Given the description of an element on the screen output the (x, y) to click on. 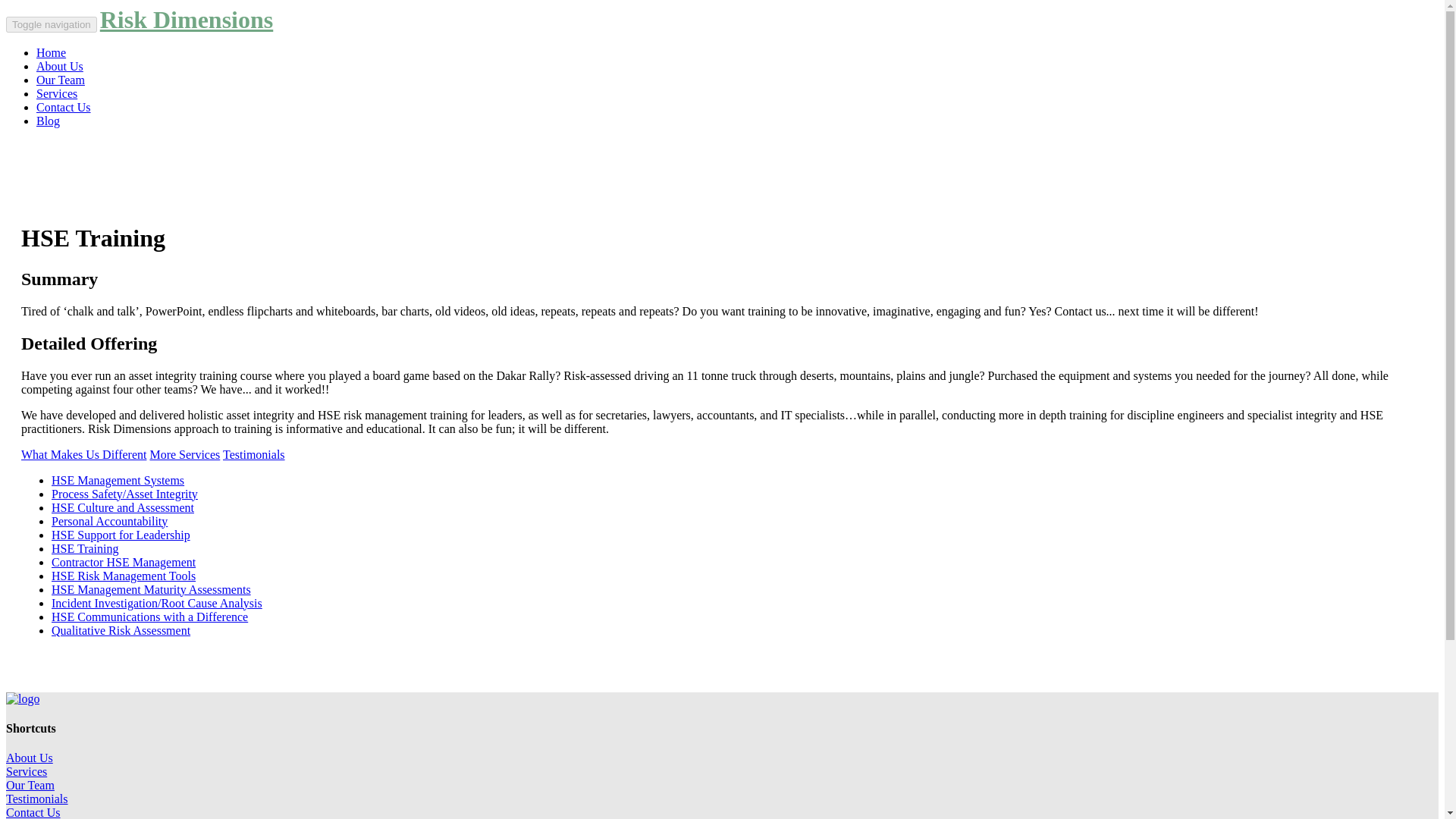
Services (56, 92)
What Makes Us Different (84, 454)
More Services (184, 454)
HSE Culture and Assessment (121, 507)
Blog (47, 120)
Risk Dimensions (186, 16)
What Makes Us Different (84, 454)
Contractor HSE Management (122, 562)
